Given the description of an element on the screen output the (x, y) to click on. 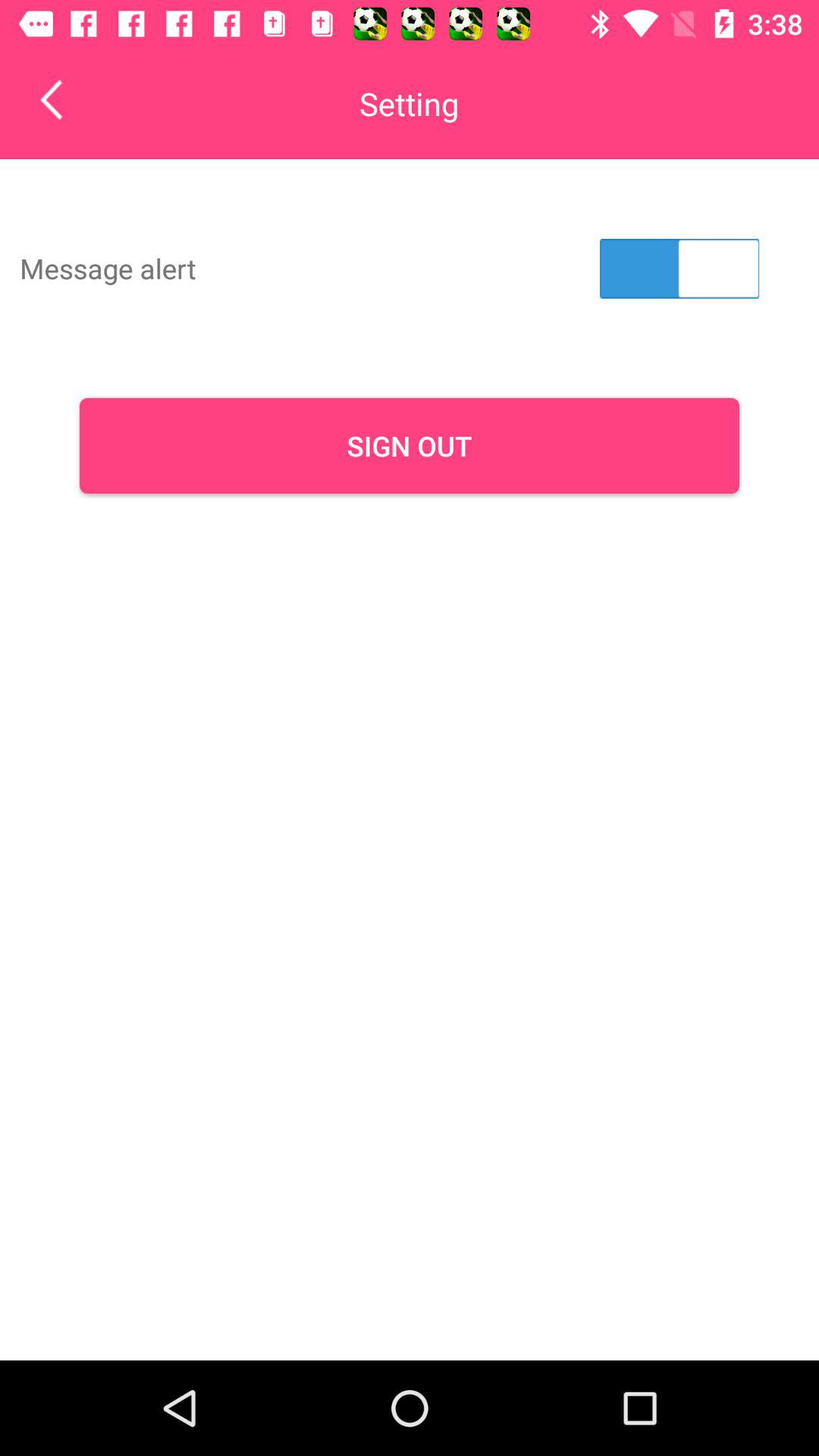
turn on the item to the left of setting (62, 99)
